Given the description of an element on the screen output the (x, y) to click on. 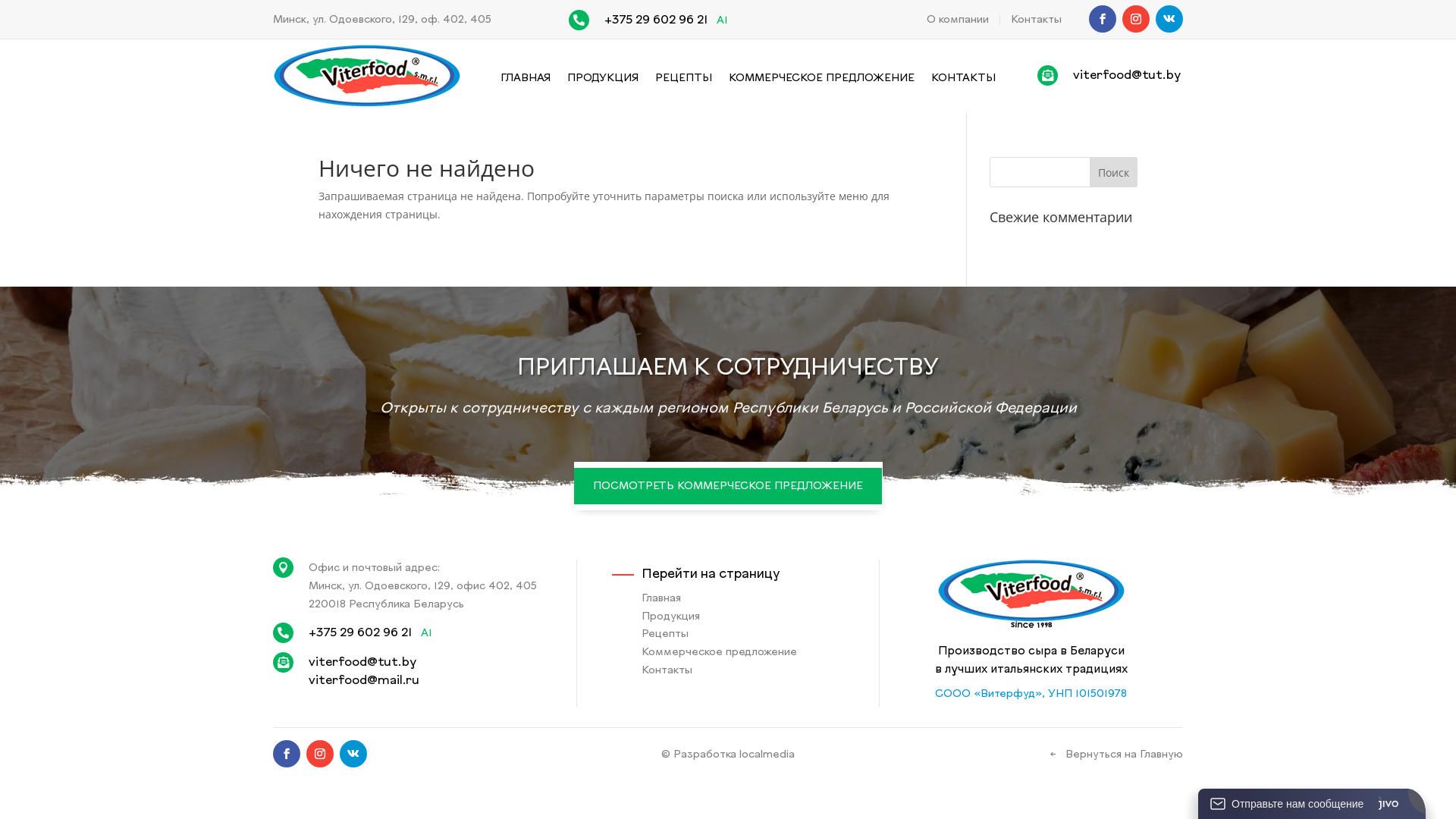
+375 29 602 96 21 Element type: text (359, 633)
viterfood@tut.by Element type: text (362, 662)
JPG-1 Element type: hover (367, 75)
+375 29 602 96 21 Element type: text (655, 20)
viterfood@mail.ru Element type: text (363, 680)
viterfood@tut.by Element type: text (1126, 75)
